Given the description of an element on the screen output the (x, y) to click on. 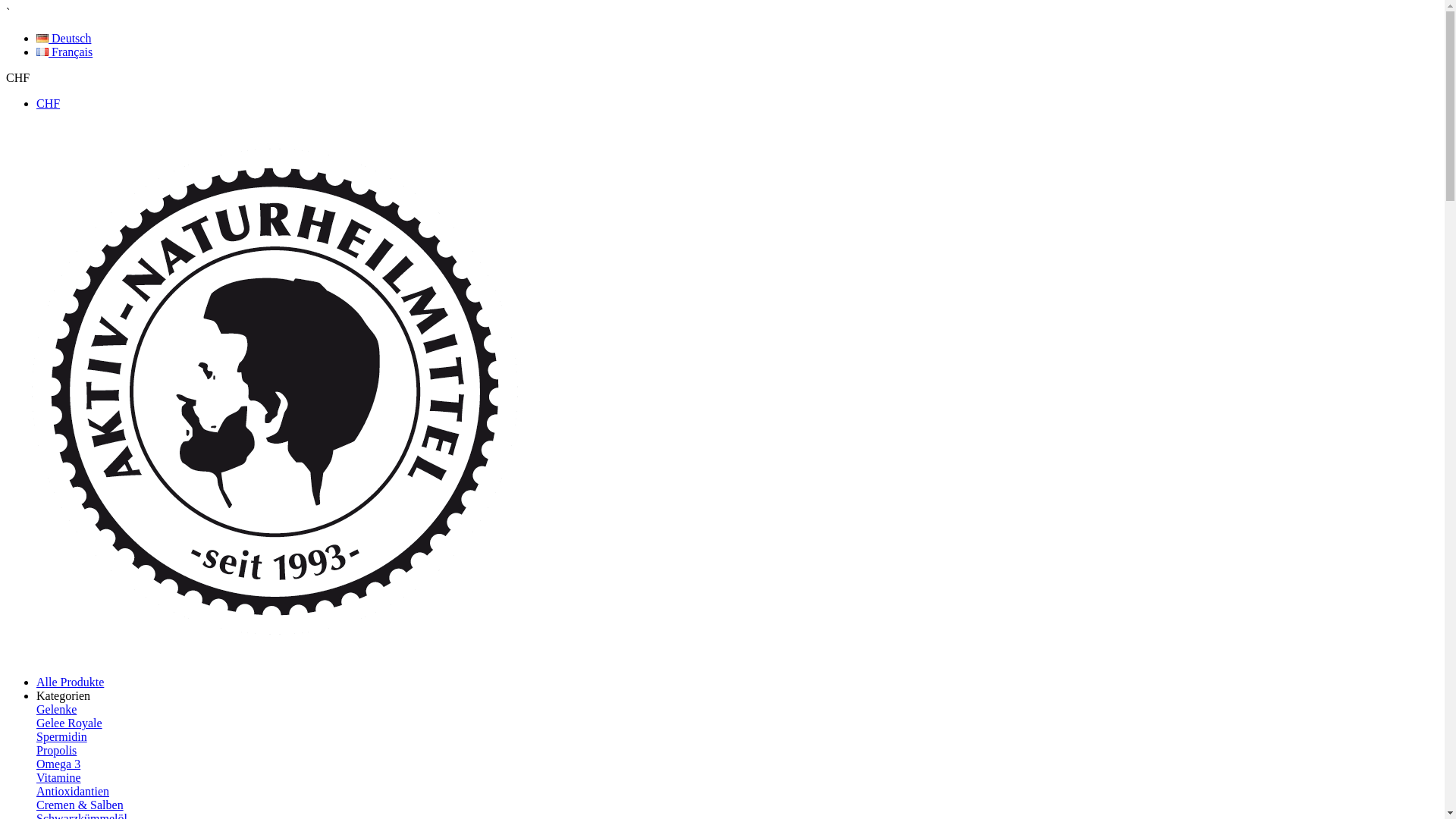
Gelee Royale Element type: text (69, 722)
Alle Produkte Element type: text (69, 681)
CHF Element type: text (17, 77)
CHF Element type: text (47, 103)
Vitamine Element type: text (58, 777)
Deutsch Element type: text (63, 37)
Antioxidantien Element type: text (72, 790)
Gelenke Element type: text (56, 708)
Spermidin Element type: text (61, 736)
Kategorien Element type: text (63, 695)
Propolis Element type: text (56, 749)
Cremen & Salben Element type: text (79, 804)
Omega 3 Element type: text (58, 763)
